Given the description of an element on the screen output the (x, y) to click on. 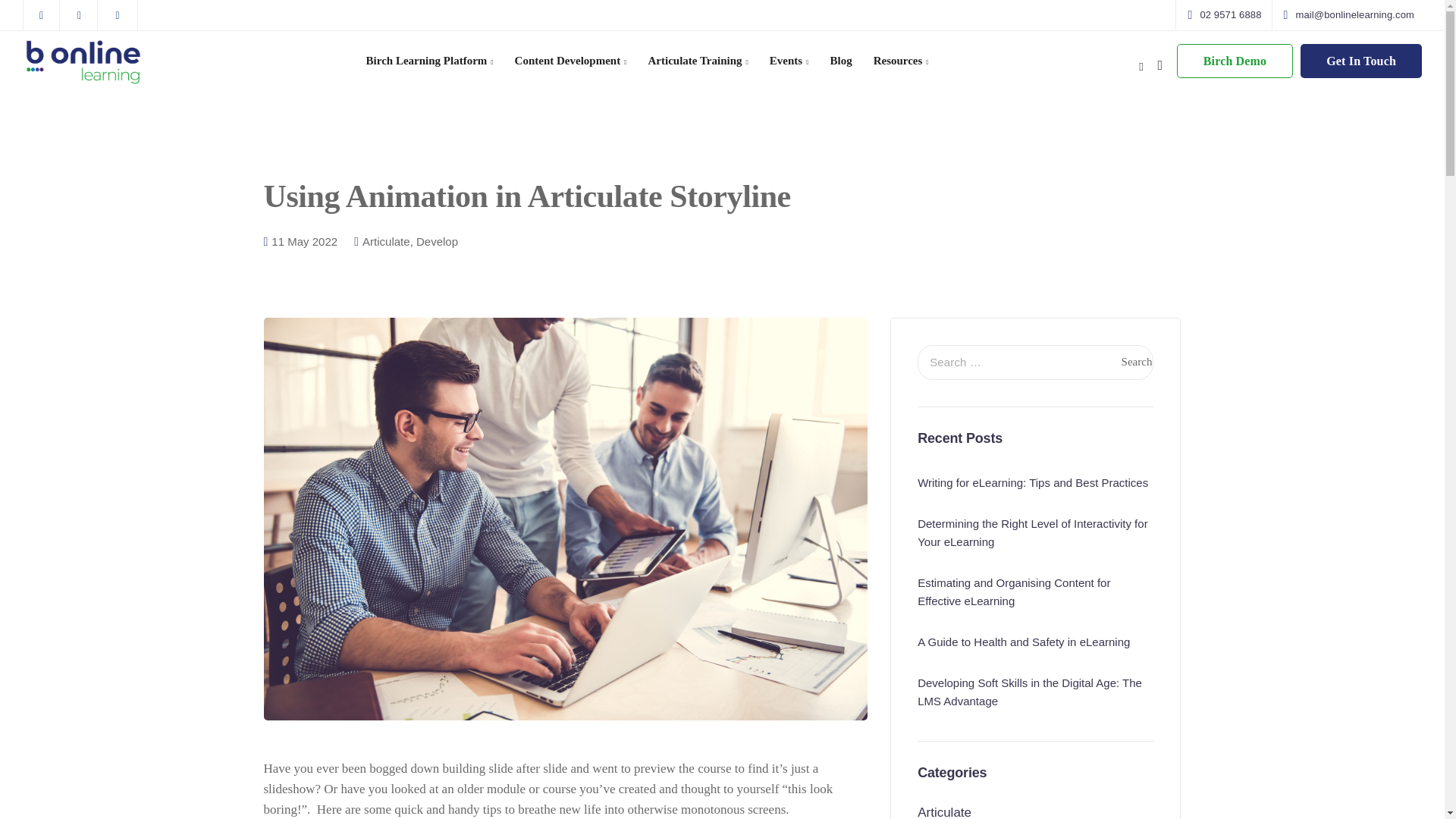
Blog (839, 60)
Content Development (570, 60)
Search (1136, 361)
Resources (901, 60)
Birch Learning Platform (429, 60)
02 9571 6888 (1227, 15)
Articulate Training (697, 60)
Search (1136, 361)
Birch Demo (1235, 60)
Events (788, 60)
